Given the description of an element on the screen output the (x, y) to click on. 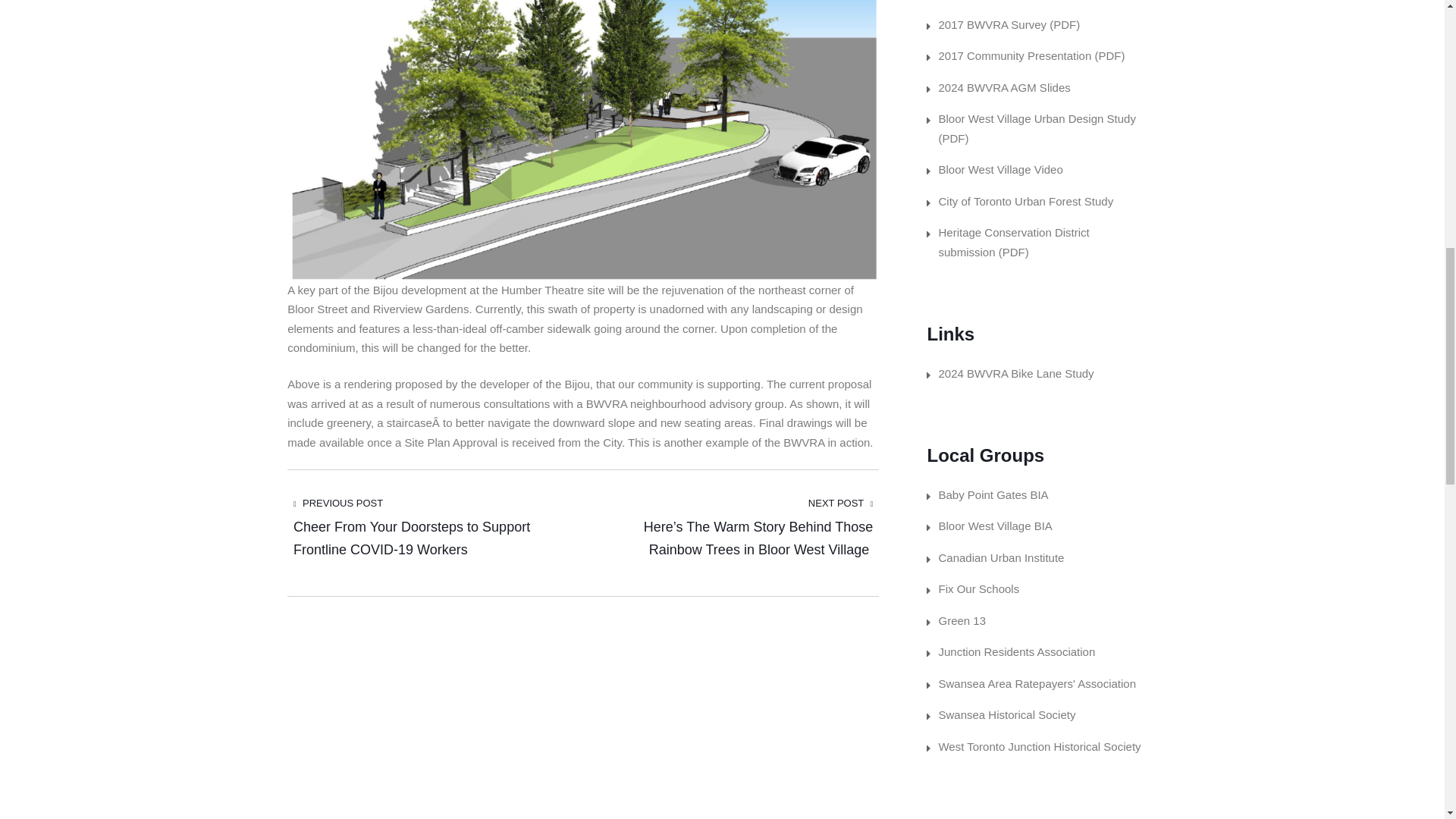
Swansea Area Ratepayers' Association (1036, 682)
Fix Our Schools (978, 588)
City of Toronto Urban Forest Study (1025, 201)
2024 Bike Land Study done by the BWVRA (1015, 373)
West Toronto Junction Historical Society (1038, 746)
Bloor West Village Video (999, 169)
Junction Residents Association (1015, 651)
A brief video of life in Bloor West Village (999, 169)
Green 13 (961, 620)
